Given the description of an element on the screen output the (x, y) to click on. 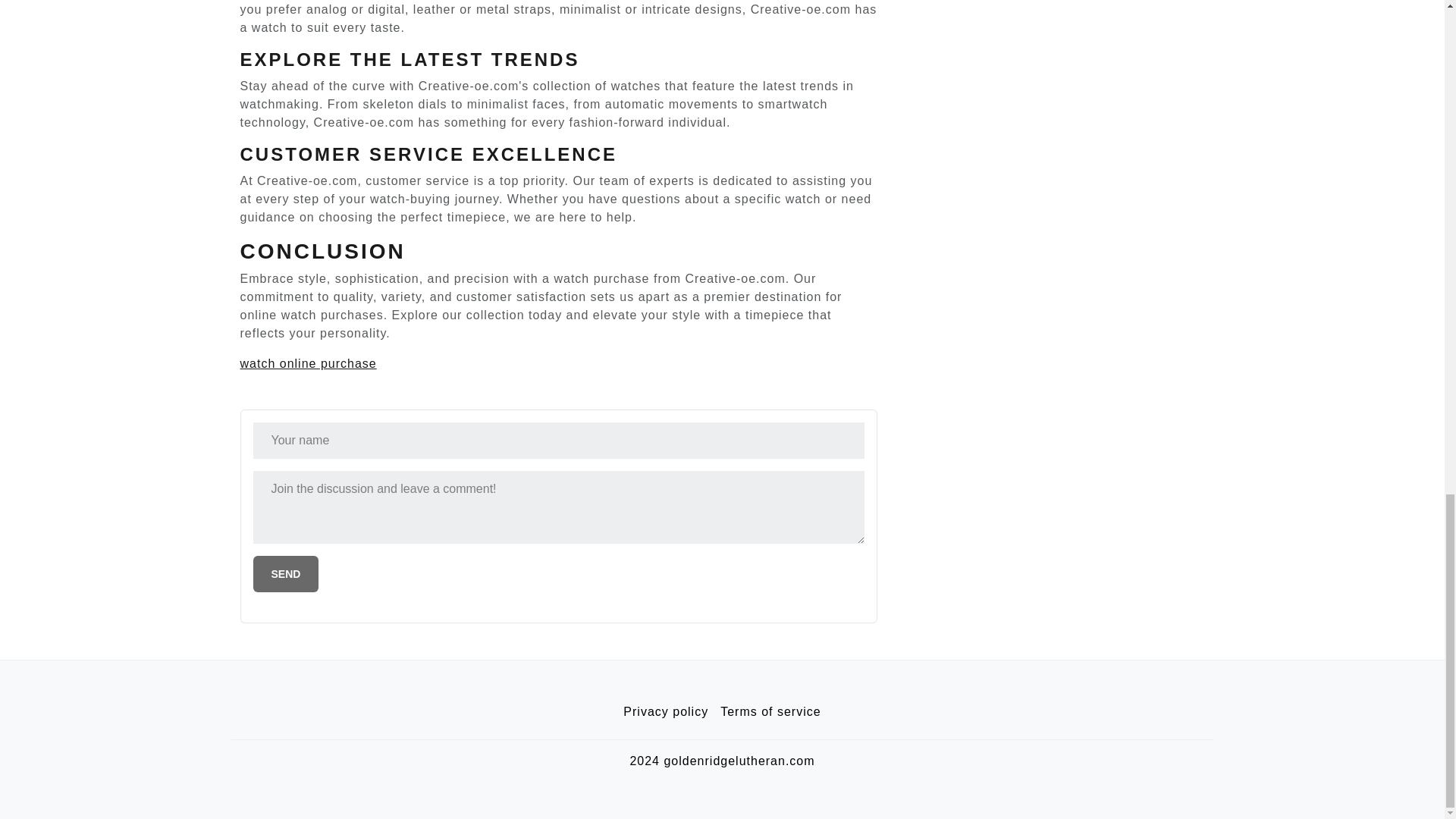
Terms of service (770, 711)
Send (285, 574)
Send (285, 574)
watch online purchase (307, 363)
Privacy policy (665, 711)
